Given the description of an element on the screen output the (x, y) to click on. 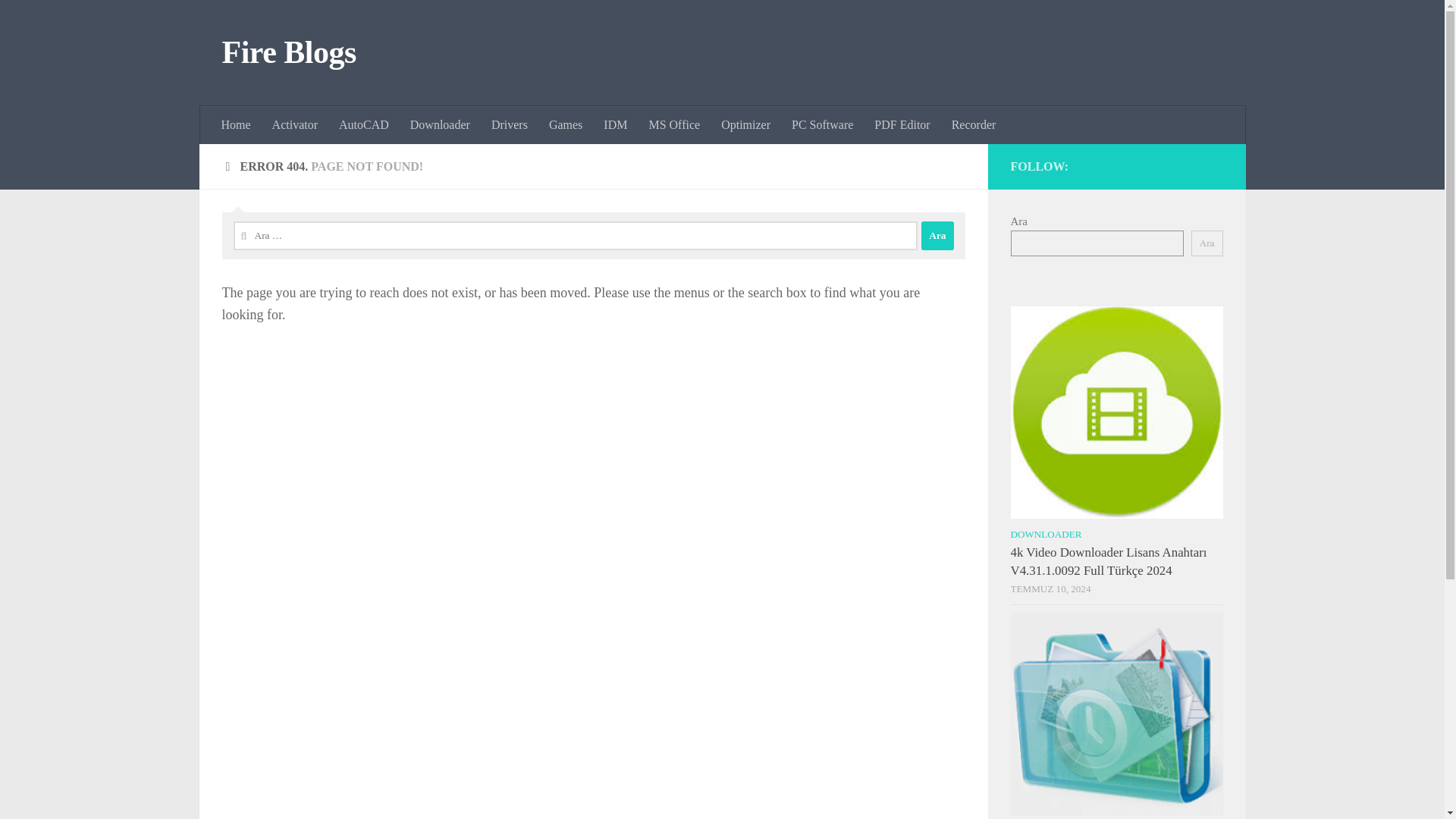
Games (565, 125)
MS Office (673, 125)
Ara (937, 235)
AutoCAD (363, 125)
Ara (1207, 243)
PC Software (821, 125)
Fire Blogs (288, 53)
Recorder (973, 125)
Downloader (439, 125)
Drivers (509, 125)
Activator (295, 125)
Ara (937, 235)
Skip to content (59, 20)
Optimizer (745, 125)
DOWNLOADER (1045, 533)
